Given the description of an element on the screen output the (x, y) to click on. 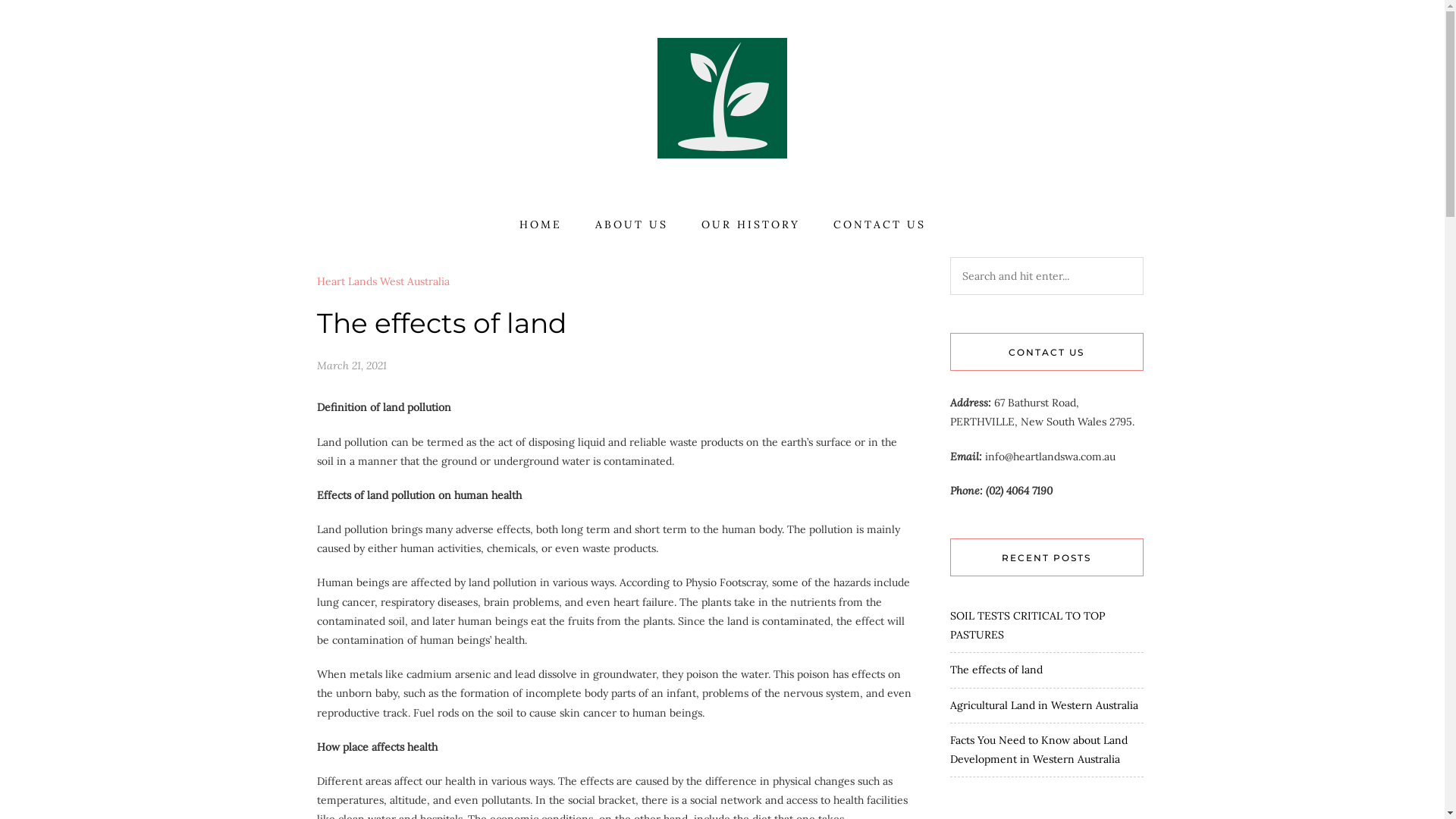
HOME Element type: text (539, 224)
Heart Lands West Australia Element type: text (382, 281)
SOIL TESTS CRITICAL TO TOP PASTURES Element type: text (1026, 624)
March 21, 2021 Element type: text (351, 365)
The effects of land Element type: text (995, 669)
OUR HISTORY Element type: text (749, 224)
ABOUT US Element type: text (630, 224)
Agricultural Land in Western Australia Element type: text (1043, 704)
CONTACT US Element type: text (878, 224)
